Given the description of an element on the screen output the (x, y) to click on. 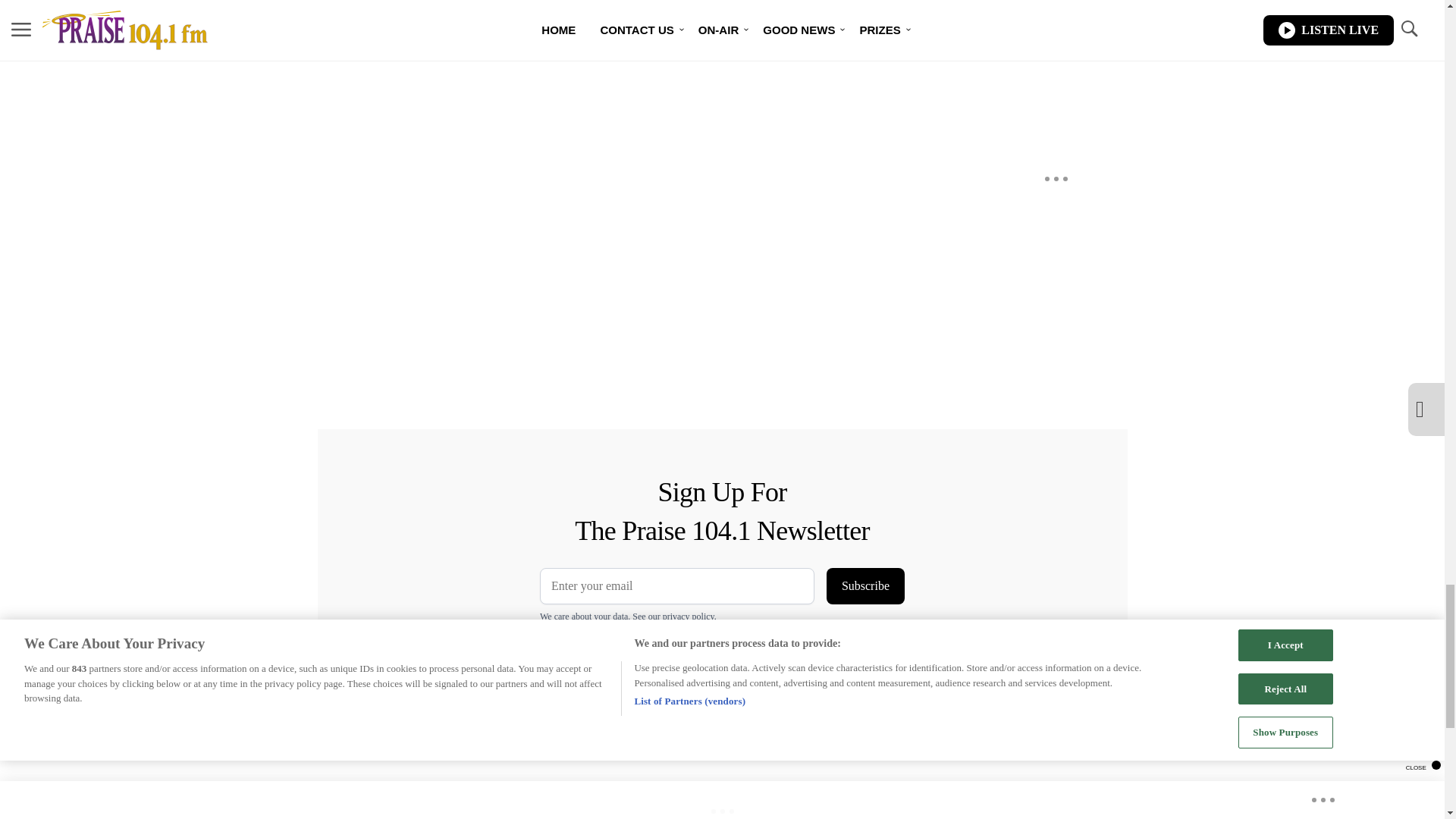
Vuukle Comments Widget (585, 53)
